Given the description of an element on the screen output the (x, y) to click on. 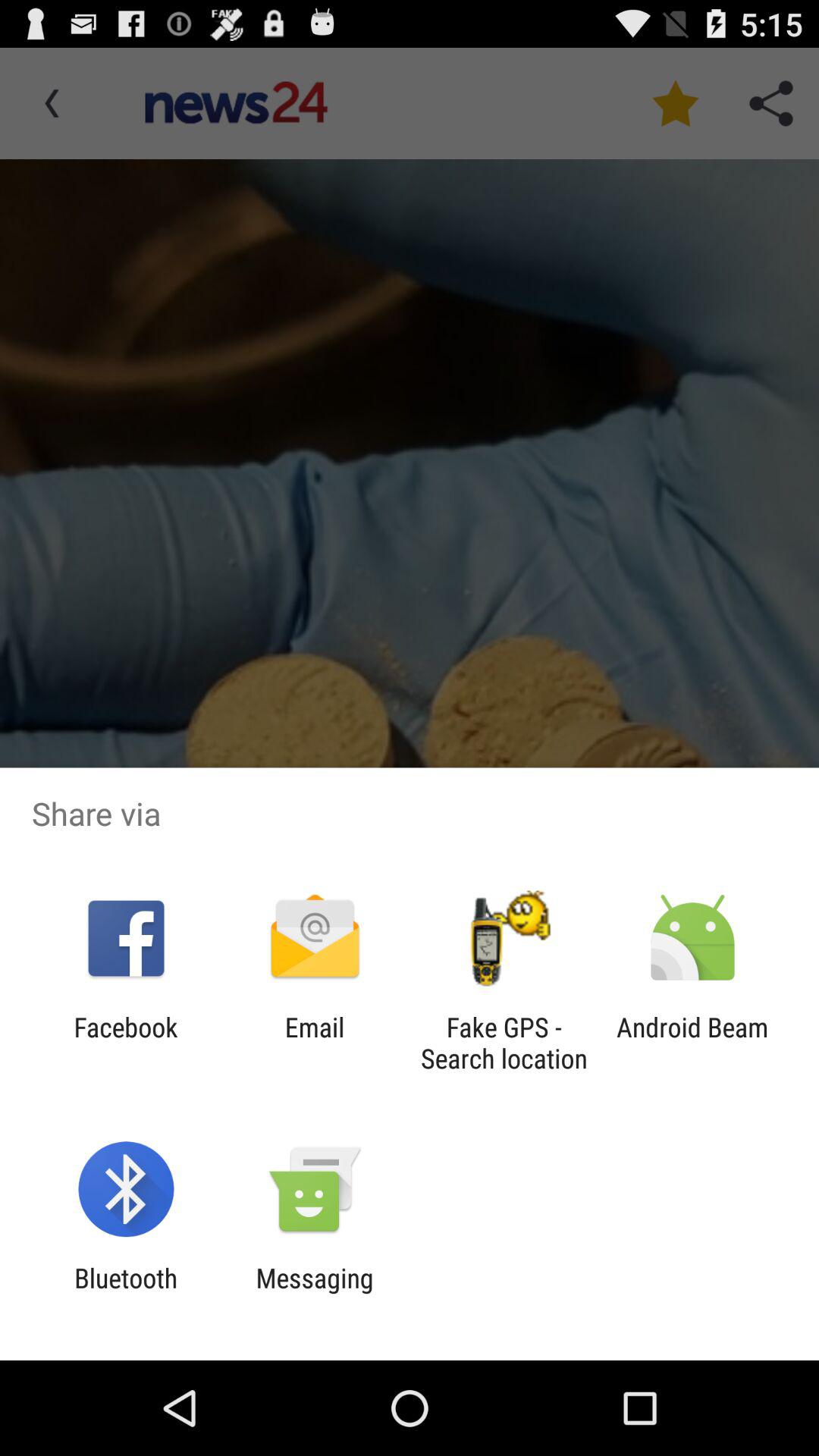
flip until email icon (314, 1042)
